Given the description of an element on the screen output the (x, y) to click on. 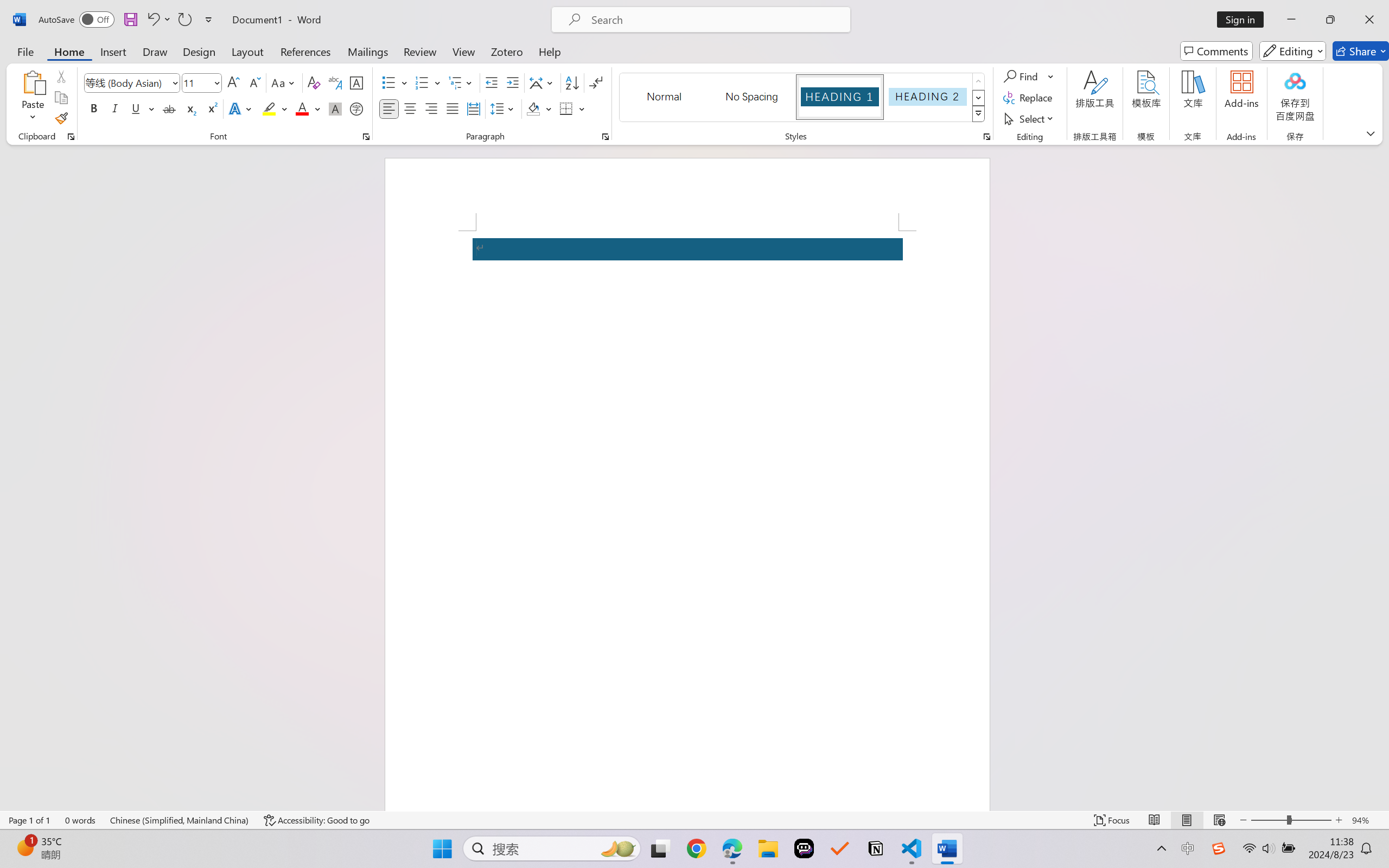
AutomationID: QuickStylesGallery (802, 97)
Editing (1292, 50)
